Given the description of an element on the screen output the (x, y) to click on. 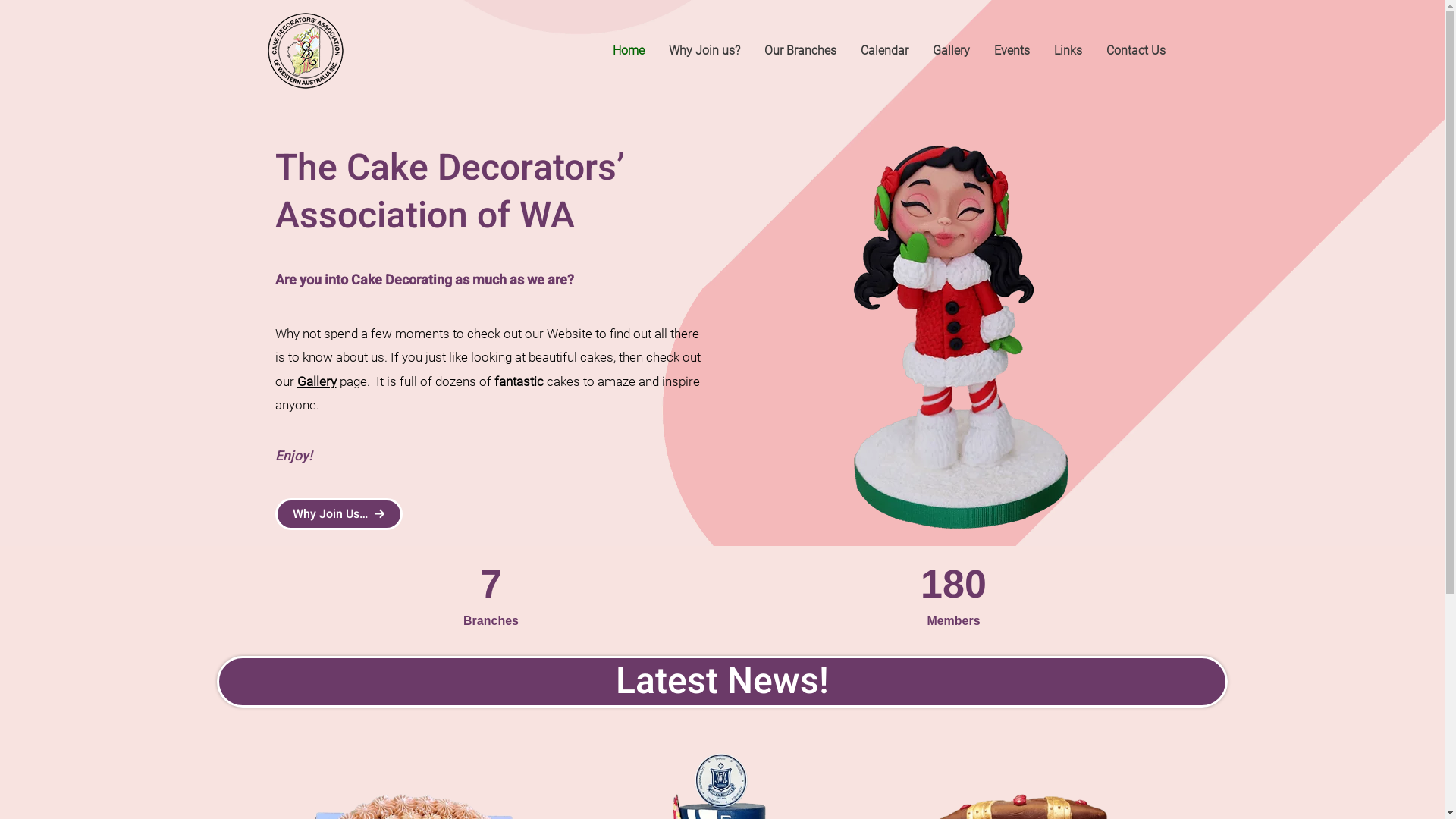
Events Element type: text (1011, 50)
Contact Us Element type: text (1134, 50)
Gallery Element type: text (951, 50)
Links Element type: text (1067, 50)
Calendar Element type: text (883, 50)
Why Join us? Element type: text (704, 50)
Our Branches Element type: text (800, 50)
Gallery Element type: text (316, 381)
Home Element type: text (628, 50)
